Given the description of an element on the screen output the (x, y) to click on. 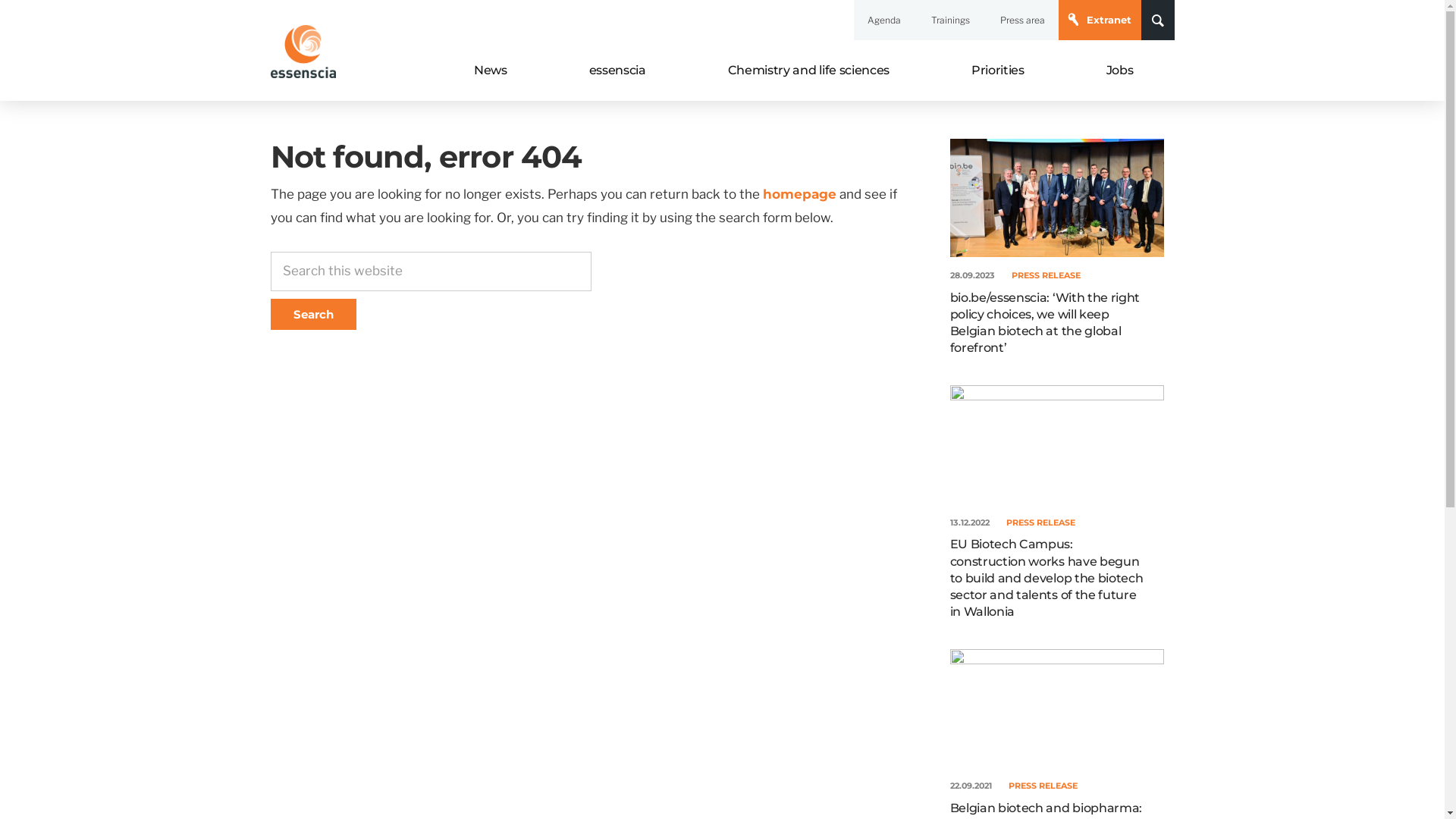
Skip to primary navigation Element type: text (0, 0)
PRESS RELEASE Element type: text (1045, 274)
Extranet Element type: text (1099, 20)
PRESS RELEASE Element type: text (1042, 785)
essenscia Element type: text (308, 104)
essenscia Element type: text (617, 70)
Jobs Element type: text (1120, 70)
homepage Element type: text (799, 193)
Trainings Element type: text (950, 19)
Search Element type: text (312, 313)
News Element type: text (490, 70)
Search Element type: text (1120, 44)
PRESS RELEASE Element type: text (1040, 522)
Press area Element type: text (1022, 19)
Agenda Element type: text (883, 19)
Priorities Element type: text (997, 70)
Chemistry and life sciences Element type: text (808, 70)
